Given the description of an element on the screen output the (x, y) to click on. 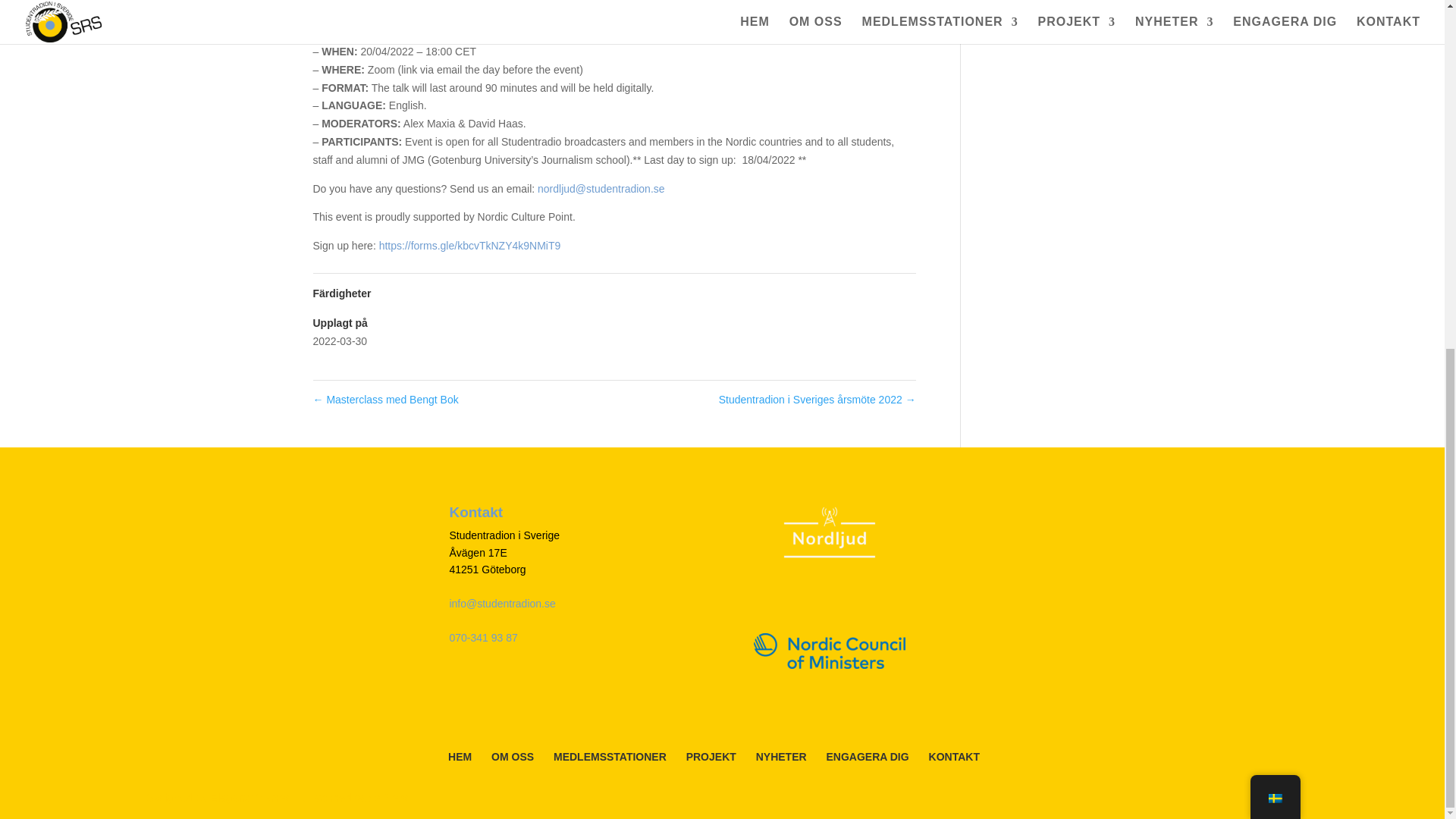
Premium WordPress Themes (250, 797)
Swedish (1274, 196)
